Given the description of an element on the screen output the (x, y) to click on. 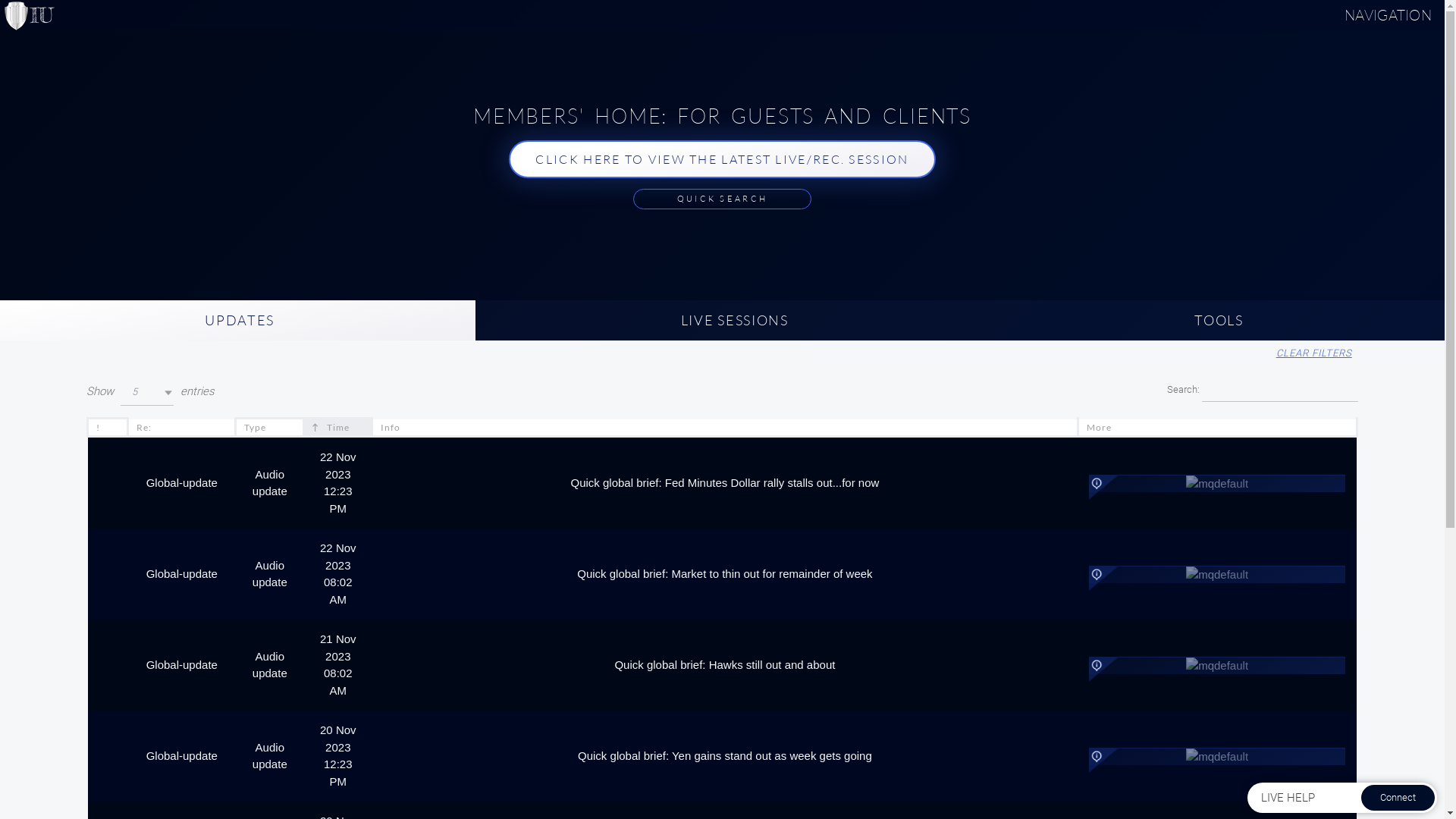
NAVIGATION Element type: text (1387, 14)
TOOLS Element type: text (1216, 319)
CLEAR FILTERS Element type: text (1314, 352)
LIVE SESSIONS Element type: text (732, 319)
CLICK HERE TO VIEW THE LATEST LIVE/REC. SESSION Element type: text (721, 159)
5
  Element type: text (146, 392)
QUICK SEARCH Element type: text (722, 198)
UPDATES Element type: text (237, 319)
